Given the description of an element on the screen output the (x, y) to click on. 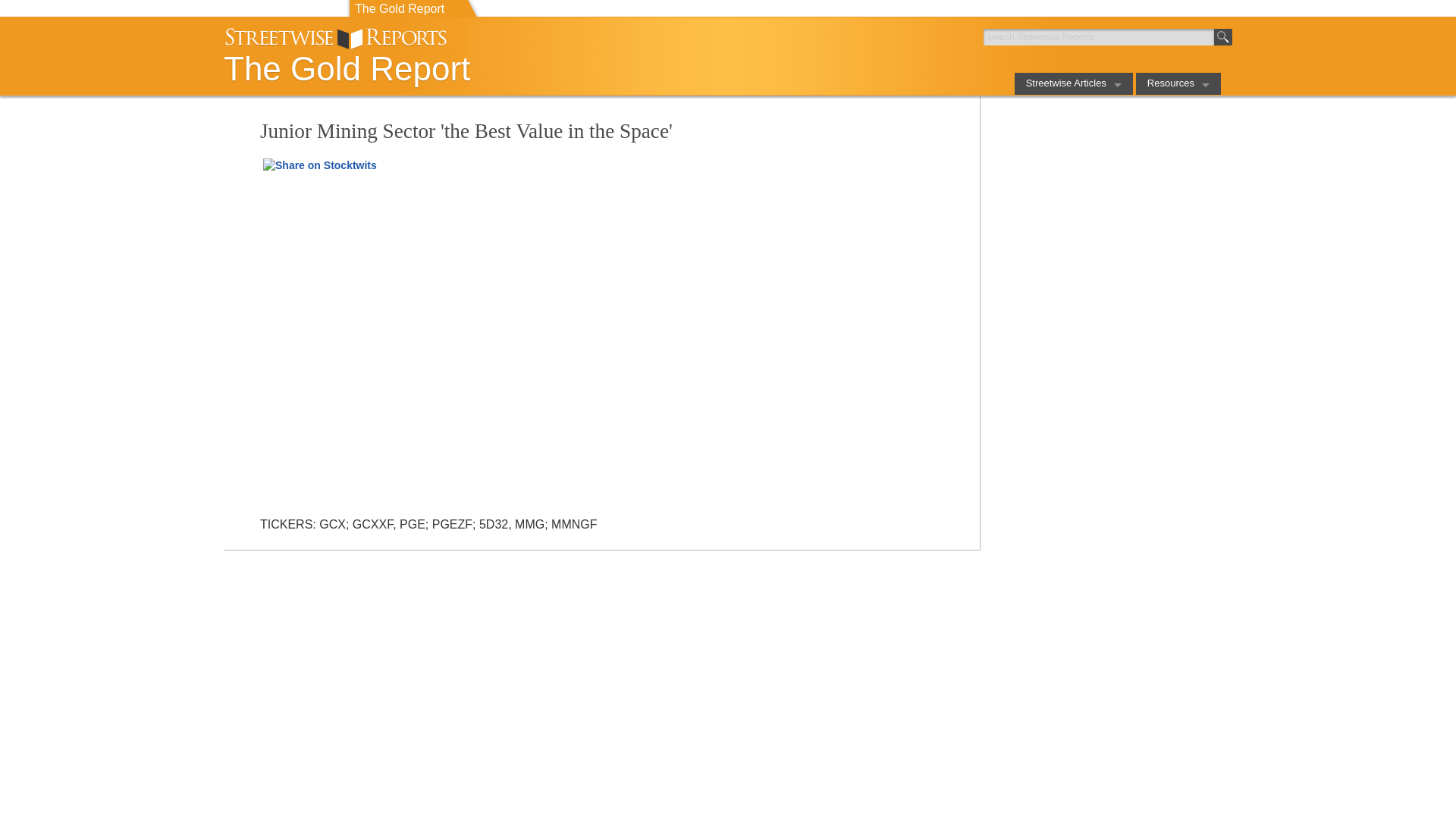
Streetwise Articles (1073, 83)
Resources (1178, 83)
The Gold Report (470, 68)
Search (1222, 36)
